Given the description of an element on the screen output the (x, y) to click on. 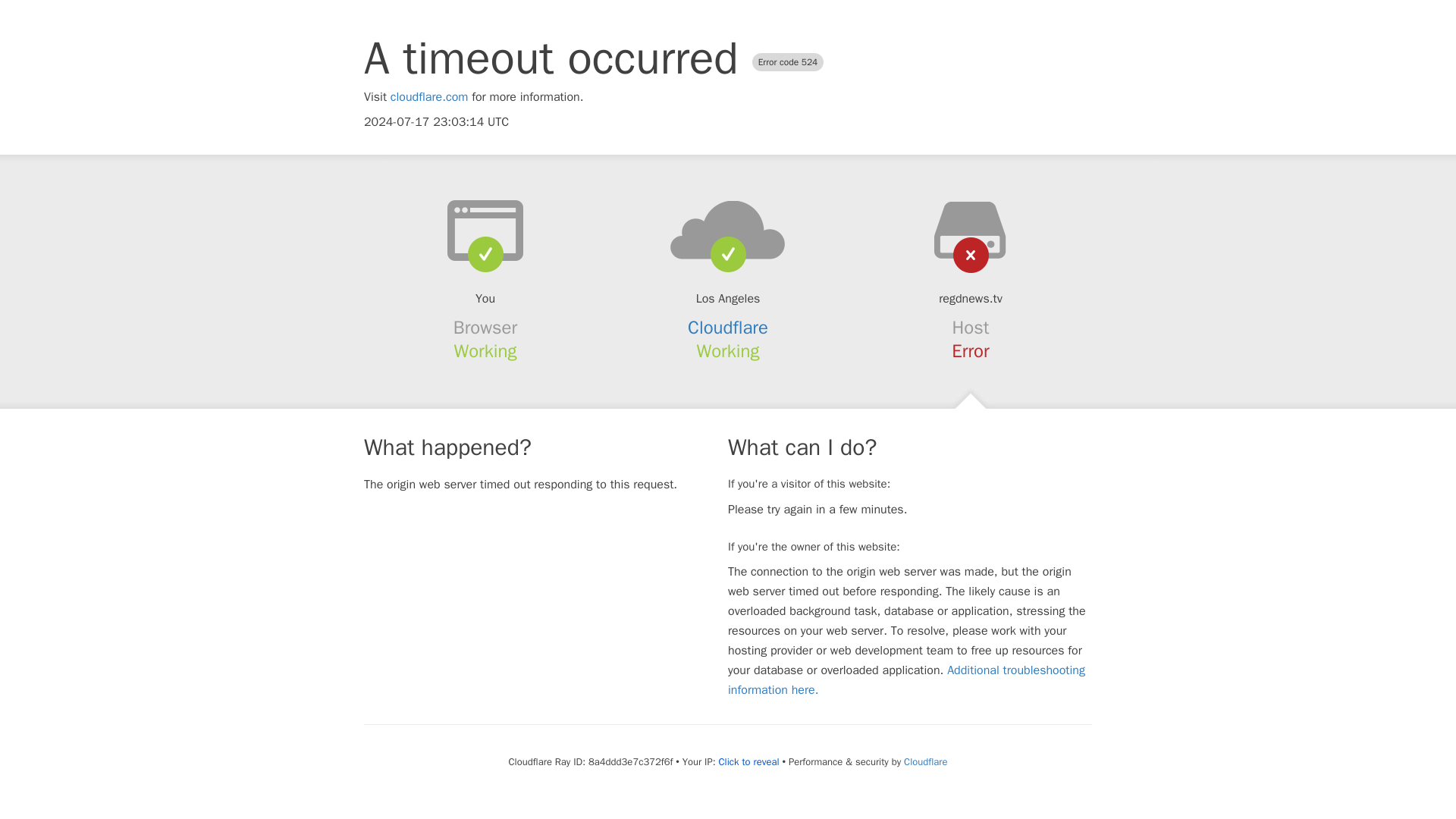
Cloudflare (925, 761)
Click to reveal (748, 762)
Additional troubleshooting information here. (906, 679)
Cloudflare (727, 327)
cloudflare.com (429, 96)
